Given the description of an element on the screen output the (x, y) to click on. 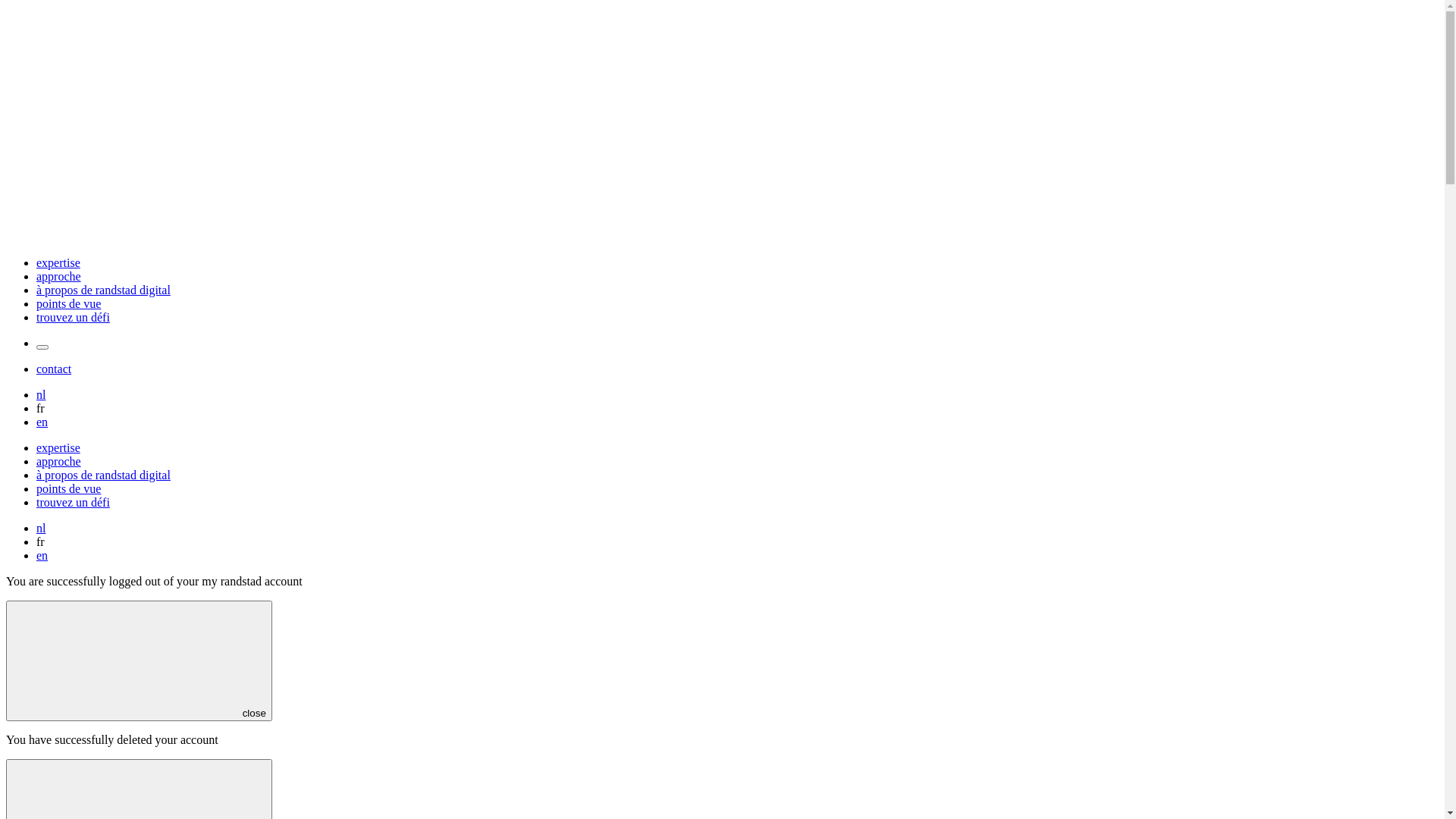
expertise Element type: text (58, 448)
approche Element type: text (58, 461)
nl Element type: text (40, 394)
en Element type: text (41, 421)
contact Element type: text (53, 368)
Randstad Digital Element type: text (722, 236)
points de vue Element type: text (68, 488)
nl Element type: text (40, 527)
approche Element type: text (58, 275)
en Element type: text (41, 555)
points de vue Element type: text (68, 303)
close Element type: text (139, 660)
expertise Element type: text (58, 262)
